Given the description of an element on the screen output the (x, y) to click on. 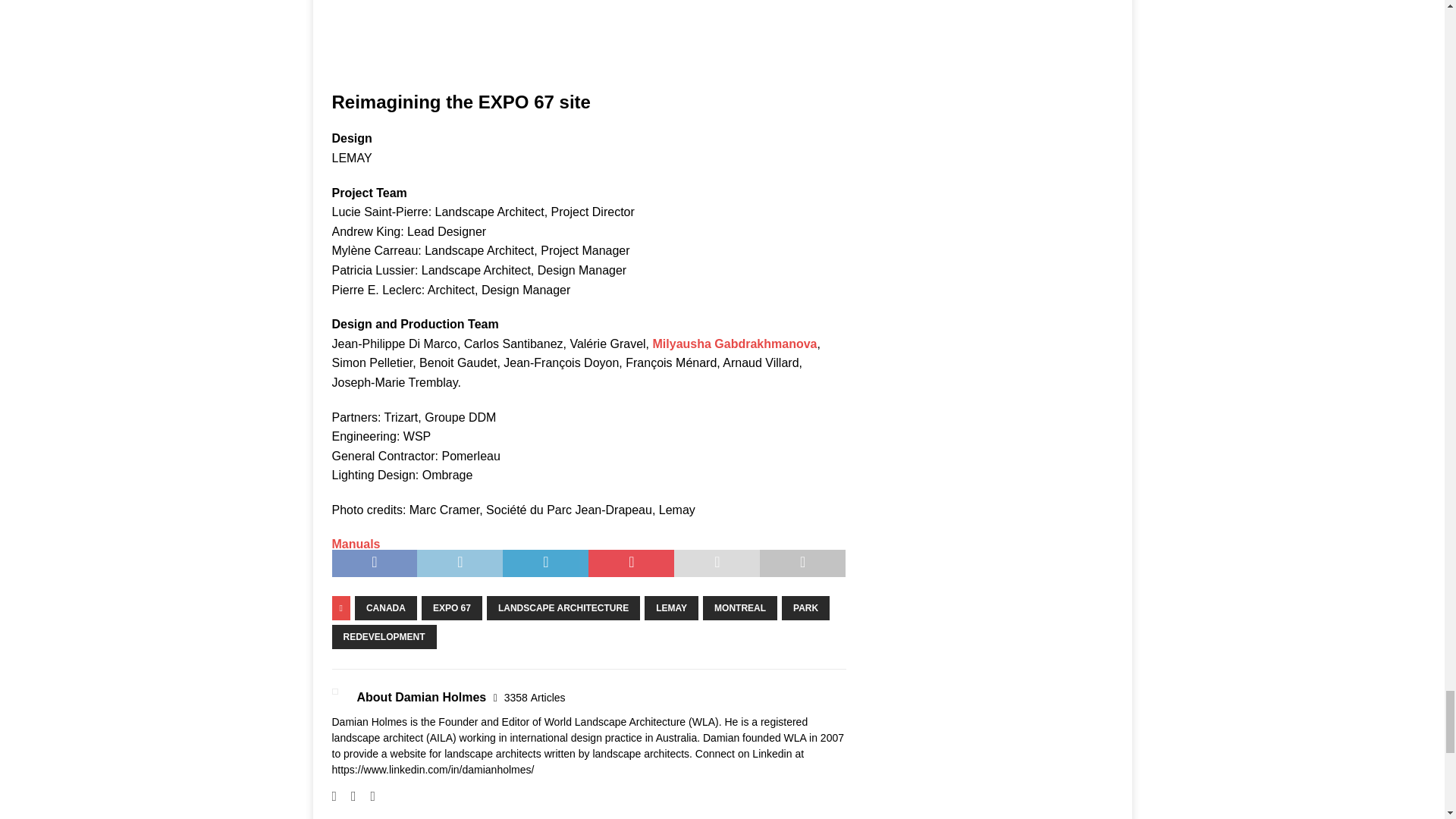
Follow Damian Holmes on LinkedIn (366, 796)
Follow Damian Holmes on Twitter (347, 796)
User Manuals (355, 543)
More articles written by Damian Holmes' (534, 697)
